Given the description of an element on the screen output the (x, y) to click on. 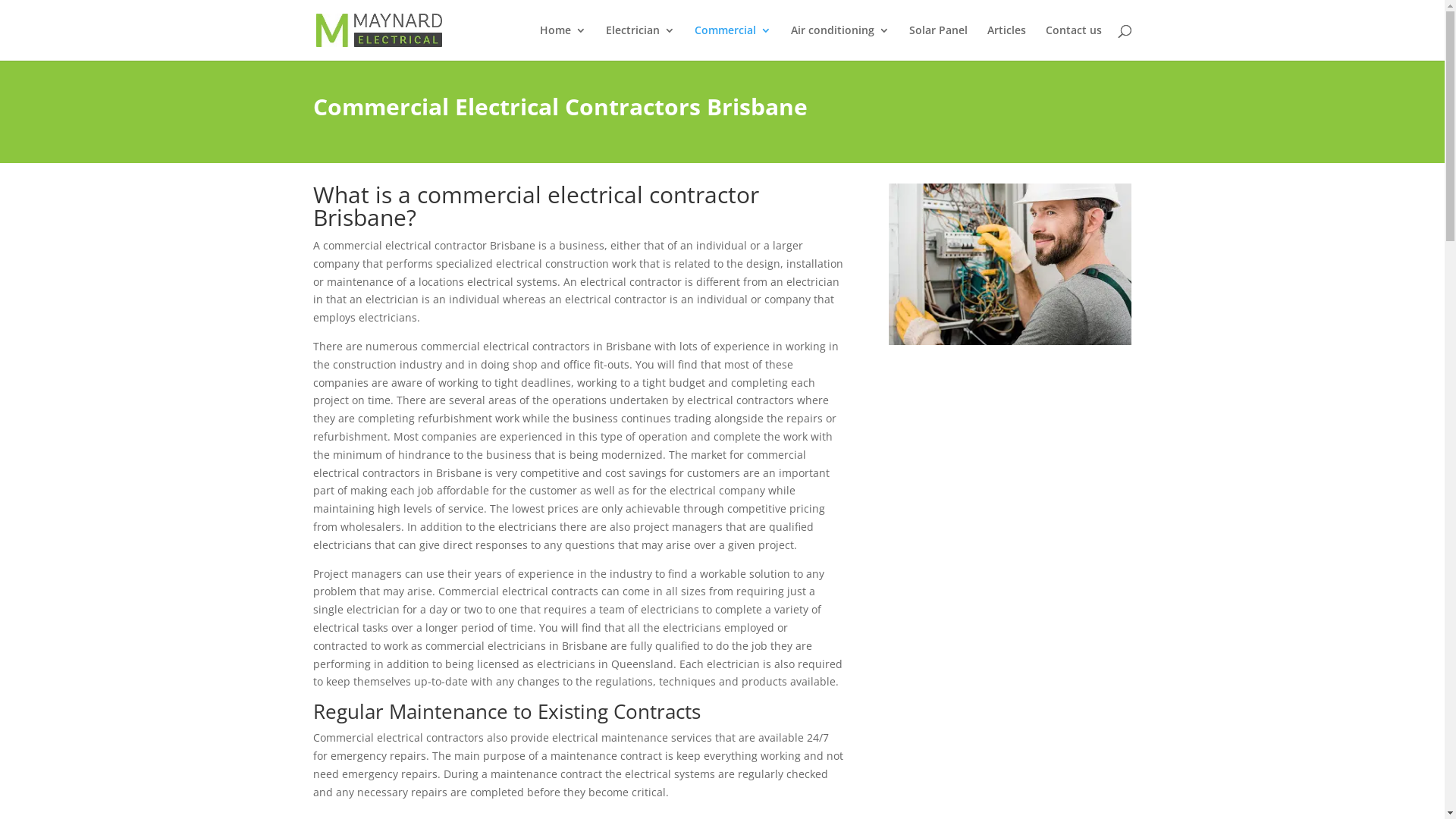
Articles Element type: text (1006, 42)
Contact us Element type: text (1072, 42)
Air conditioning Element type: text (839, 42)
Electrician Element type: text (639, 42)
Solar Panel Element type: text (937, 42)
Home Element type: text (562, 42)
Commercial Element type: text (732, 42)
